Given the description of an element on the screen output the (x, y) to click on. 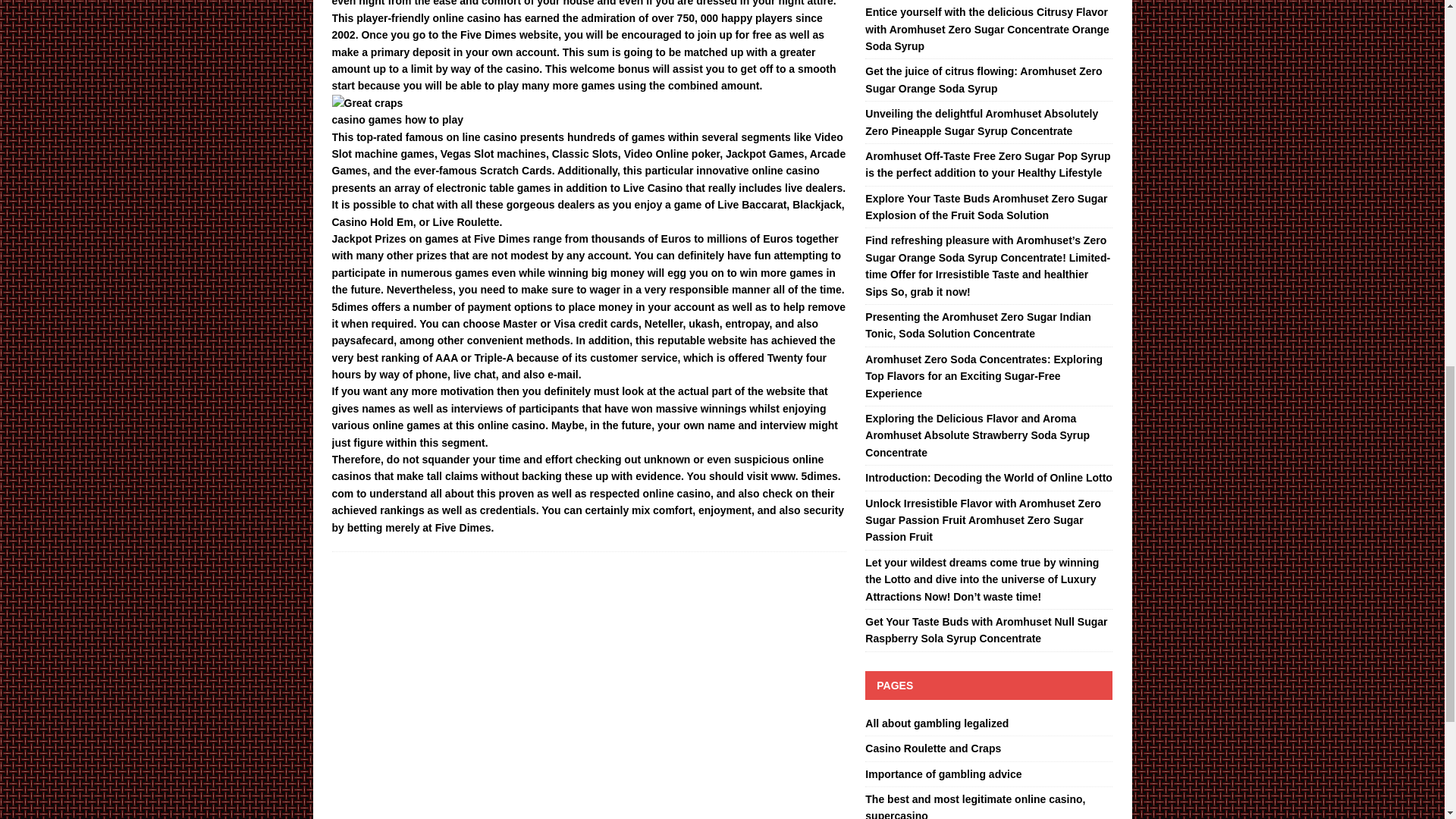
Introduction: Decoding the World of Online Lotto (988, 477)
